Given the description of an element on the screen output the (x, y) to click on. 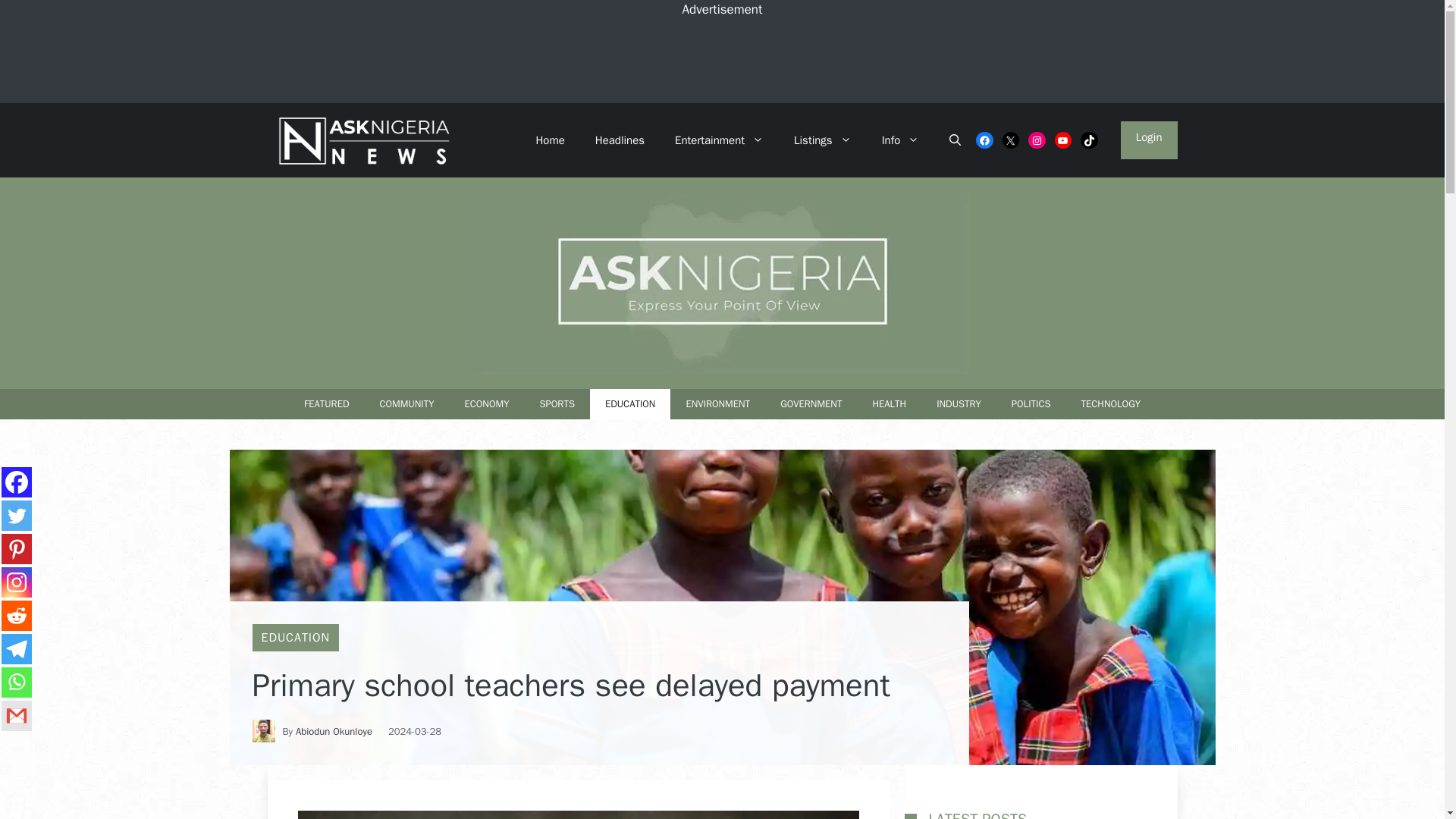
GOVERNMENT (811, 404)
Listings (822, 139)
Gmail (16, 716)
Ask Nigeria (360, 140)
ENVIRONMENT (717, 404)
HEALTH (889, 404)
Pinterest (16, 548)
Reddit (16, 615)
Info (900, 139)
Facebook (983, 140)
Headlines (619, 139)
Entertainment (718, 139)
INDUSTRY (958, 404)
EDUCATION (630, 404)
X (1011, 140)
